Given the description of an element on the screen output the (x, y) to click on. 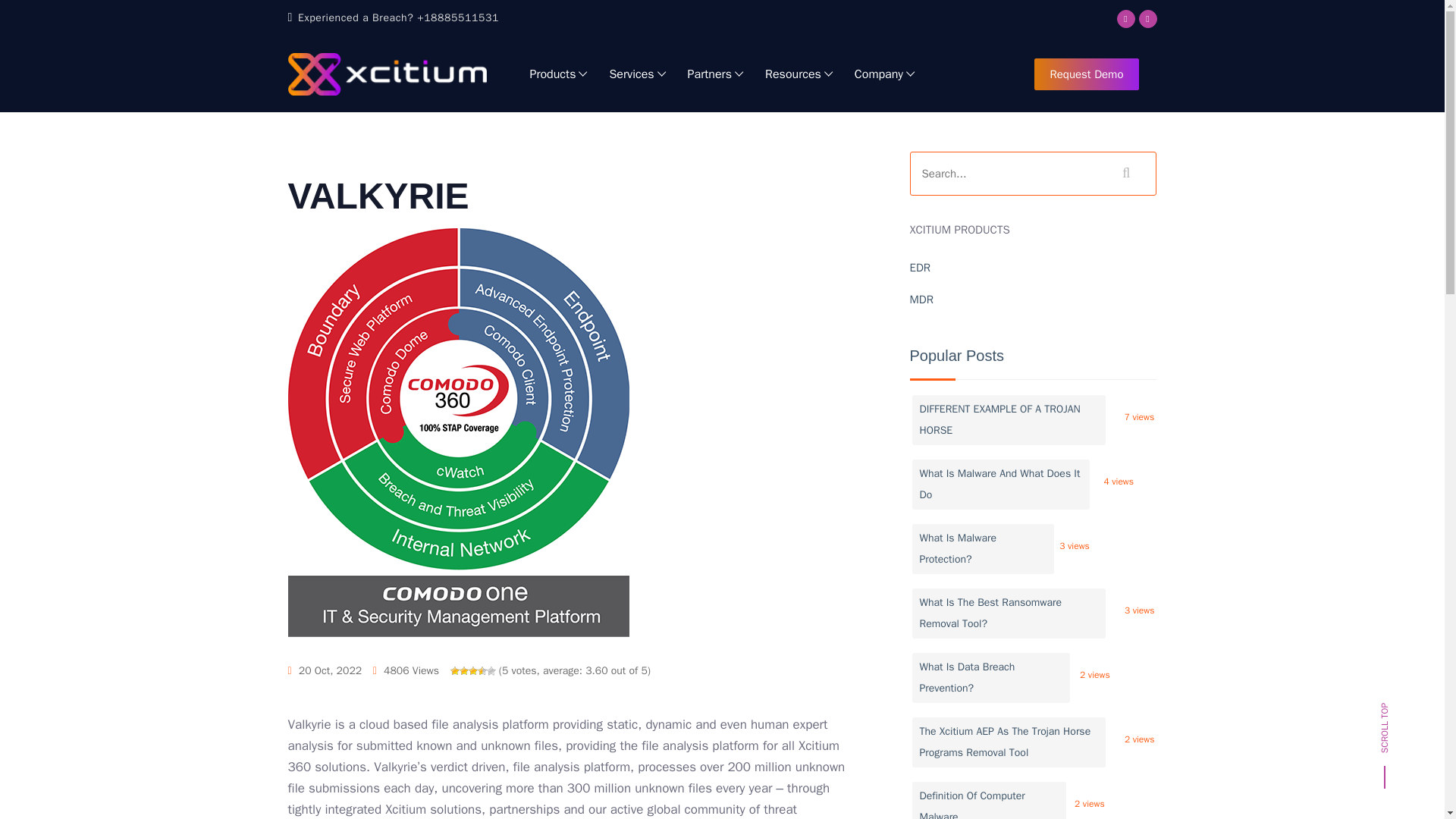
5 Stars (491, 670)
Partners (712, 74)
1 Star (454, 670)
Products (555, 74)
3 Stars (472, 670)
Services (633, 74)
2 Stars (464, 670)
4 Stars (481, 670)
Resources (796, 74)
